Given the description of an element on the screen output the (x, y) to click on. 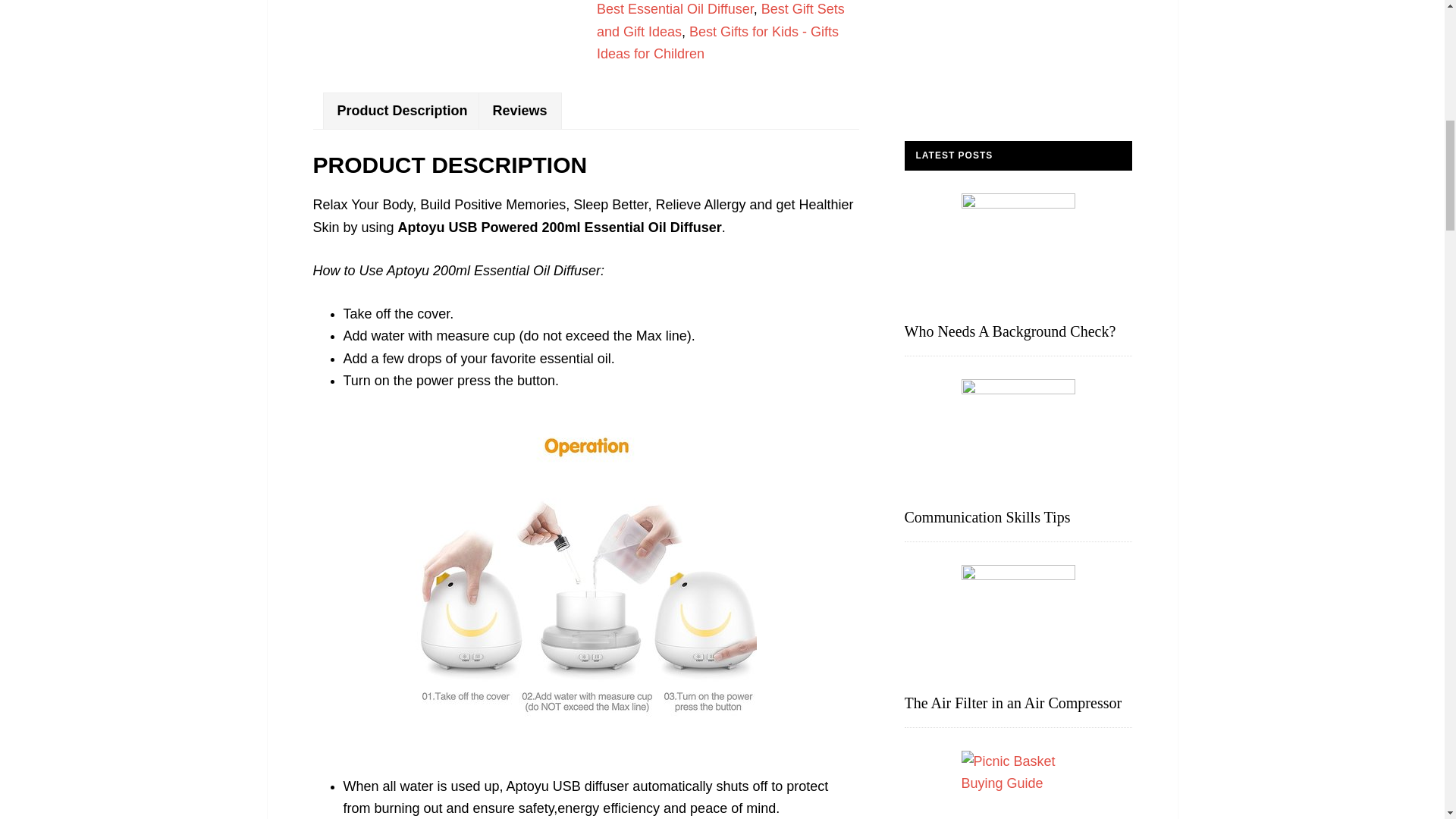
Reviews (519, 110)
Who Needs A Background Check? (1009, 330)
Best Gifts for Kids - Gifts Ideas for Children (717, 42)
Best Essential Oil Diffuser (675, 8)
Best Gift Sets and Gift Ideas (720, 19)
Communication Skills Tips (987, 516)
The Air Filter in an Air Compressor (1012, 702)
Product Description (401, 110)
